Given the description of an element on the screen output the (x, y) to click on. 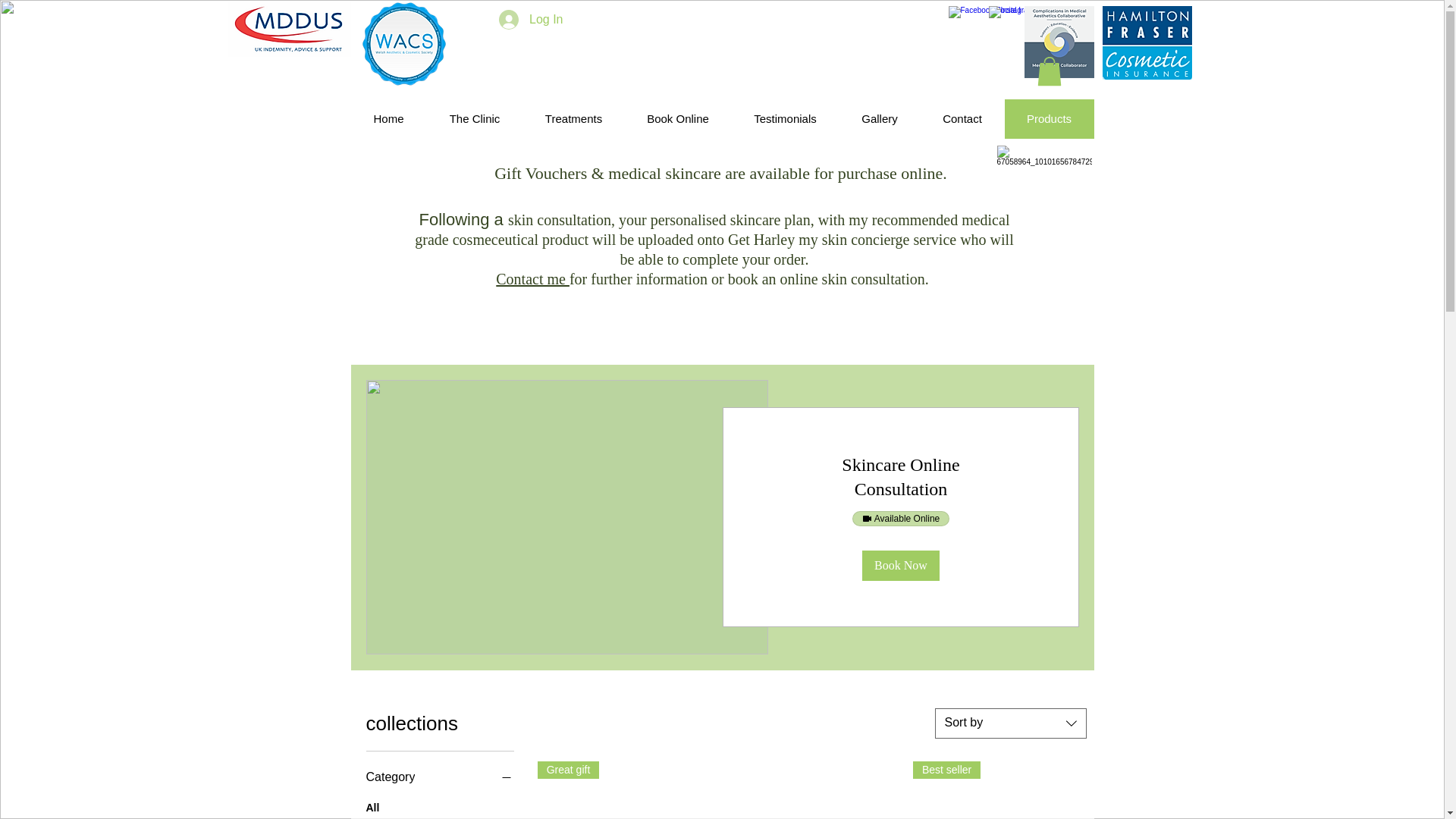
Contact me (532, 279)
Category (439, 776)
Products (1048, 118)
Home (388, 118)
Great gift (623, 790)
Sort by (1010, 723)
Treatments (573, 118)
Book Now (900, 565)
Gallery (879, 118)
The Clinic (474, 118)
